Given the description of an element on the screen output the (x, y) to click on. 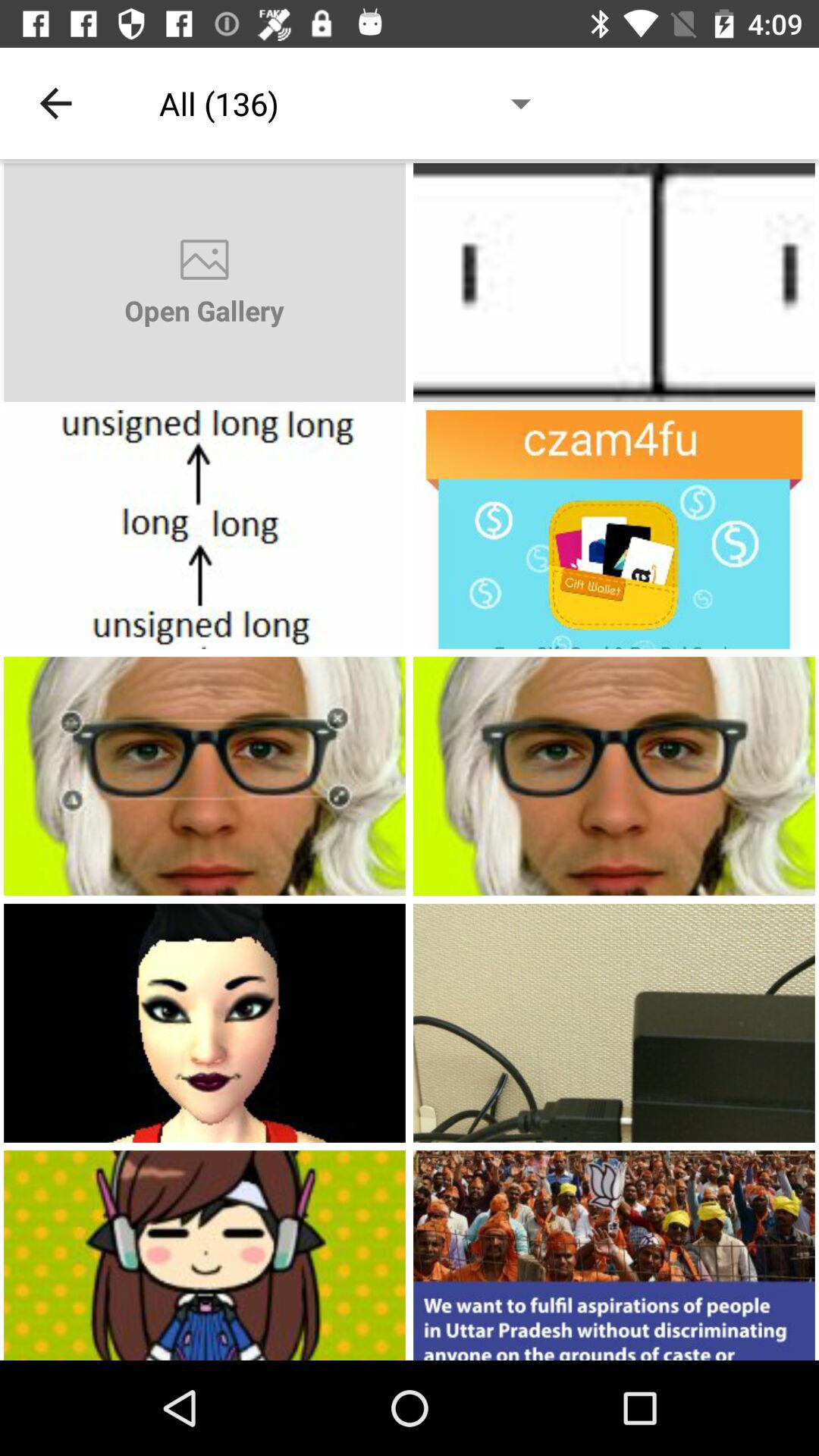
crzm4fu option (614, 529)
